Given the description of an element on the screen output the (x, y) to click on. 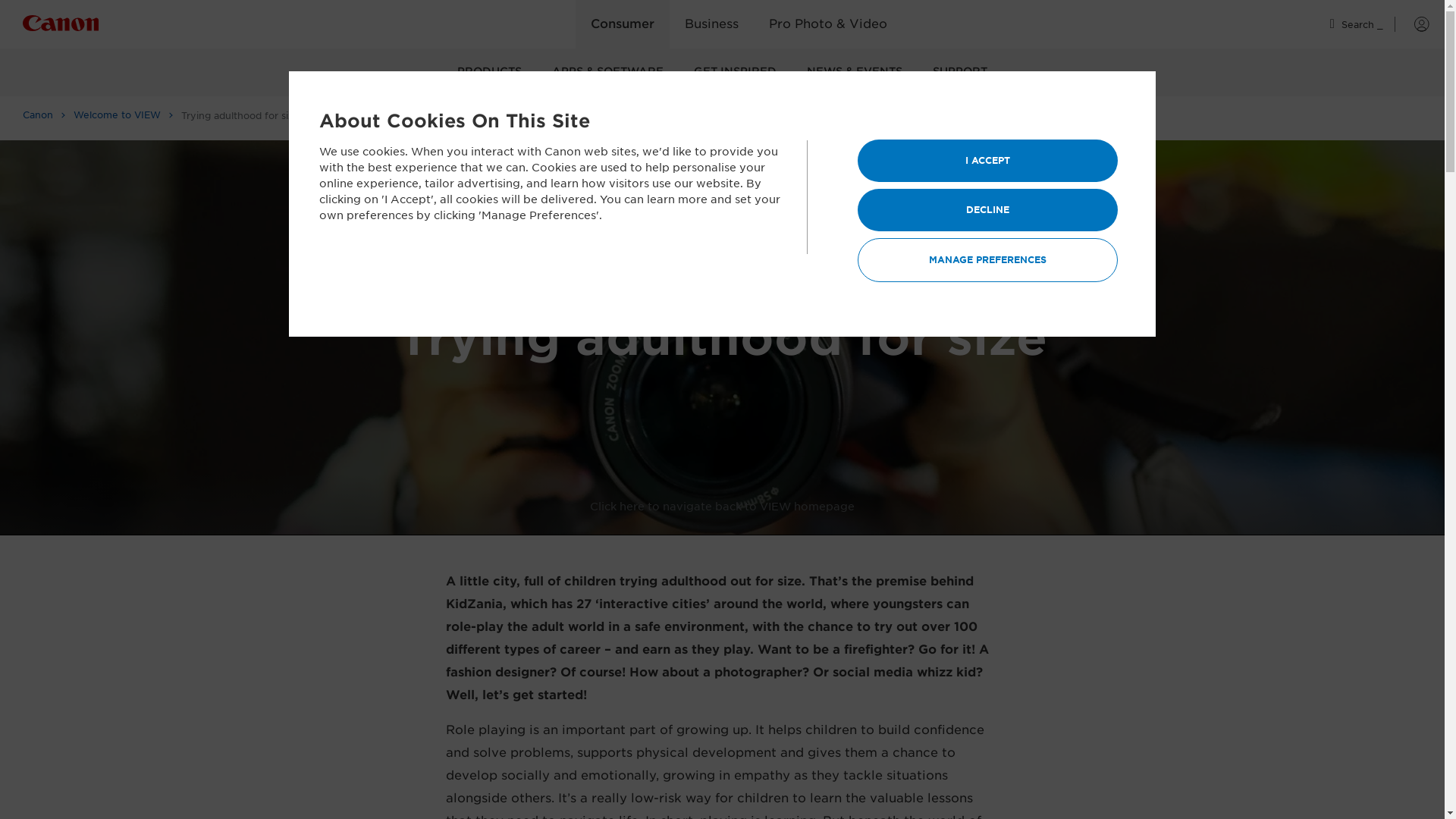
Business (711, 24)
PRODUCTS (489, 72)
Canon account (1411, 23)
Consumer (622, 24)
Canon Logo, back to home page (89, 25)
